Given the description of an element on the screen output the (x, y) to click on. 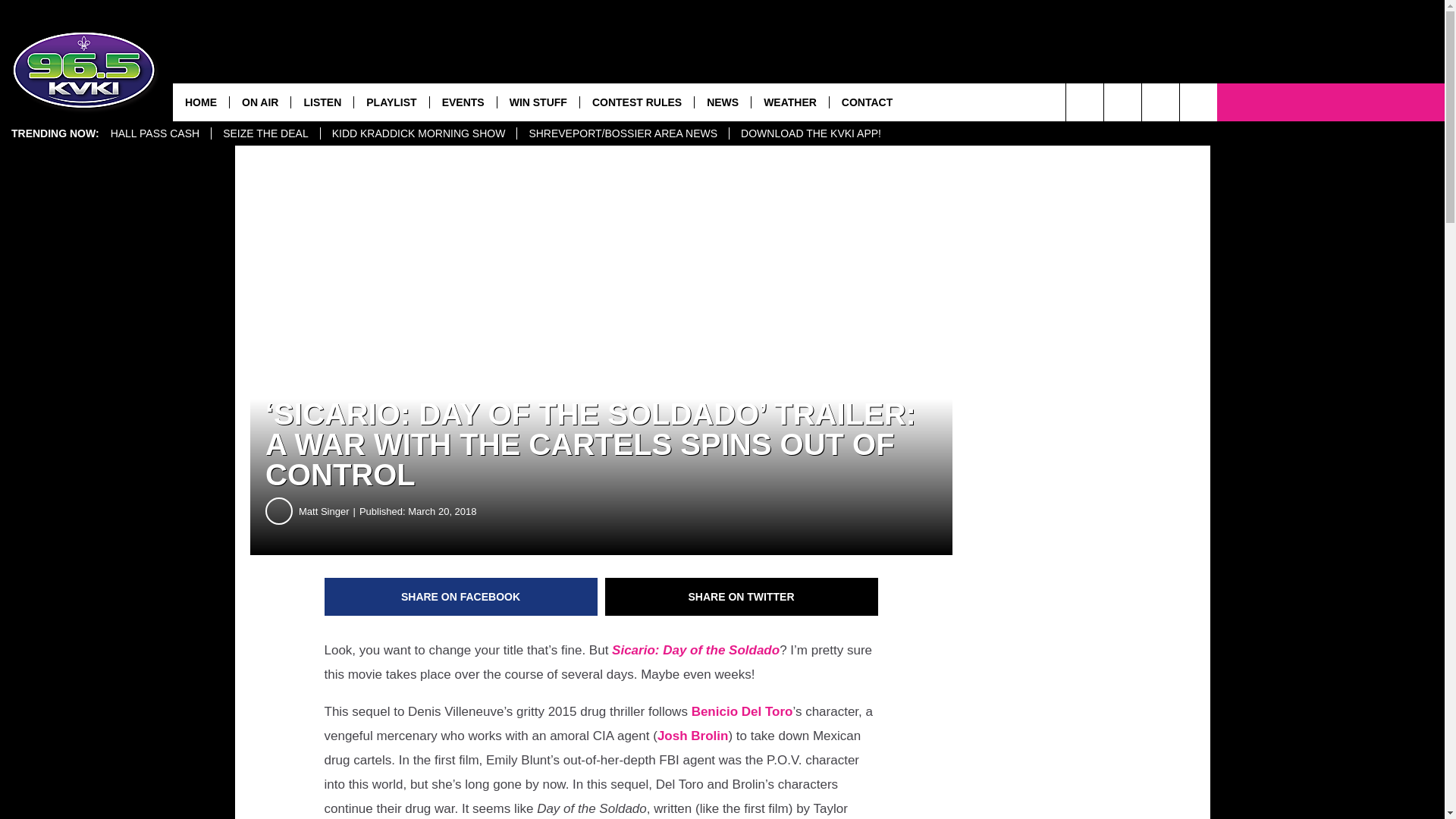
WIN STUFF (537, 102)
EVENTS (462, 102)
Share on Twitter (741, 596)
PLAYLIST (390, 102)
LISTEN (321, 102)
SEIZE THE DEAL (265, 133)
HALL PASS CASH (155, 133)
CONTEST RULES (636, 102)
ON AIR (258, 102)
KIDD KRADDICK MORNING SHOW (418, 133)
